Given the description of an element on the screen output the (x, y) to click on. 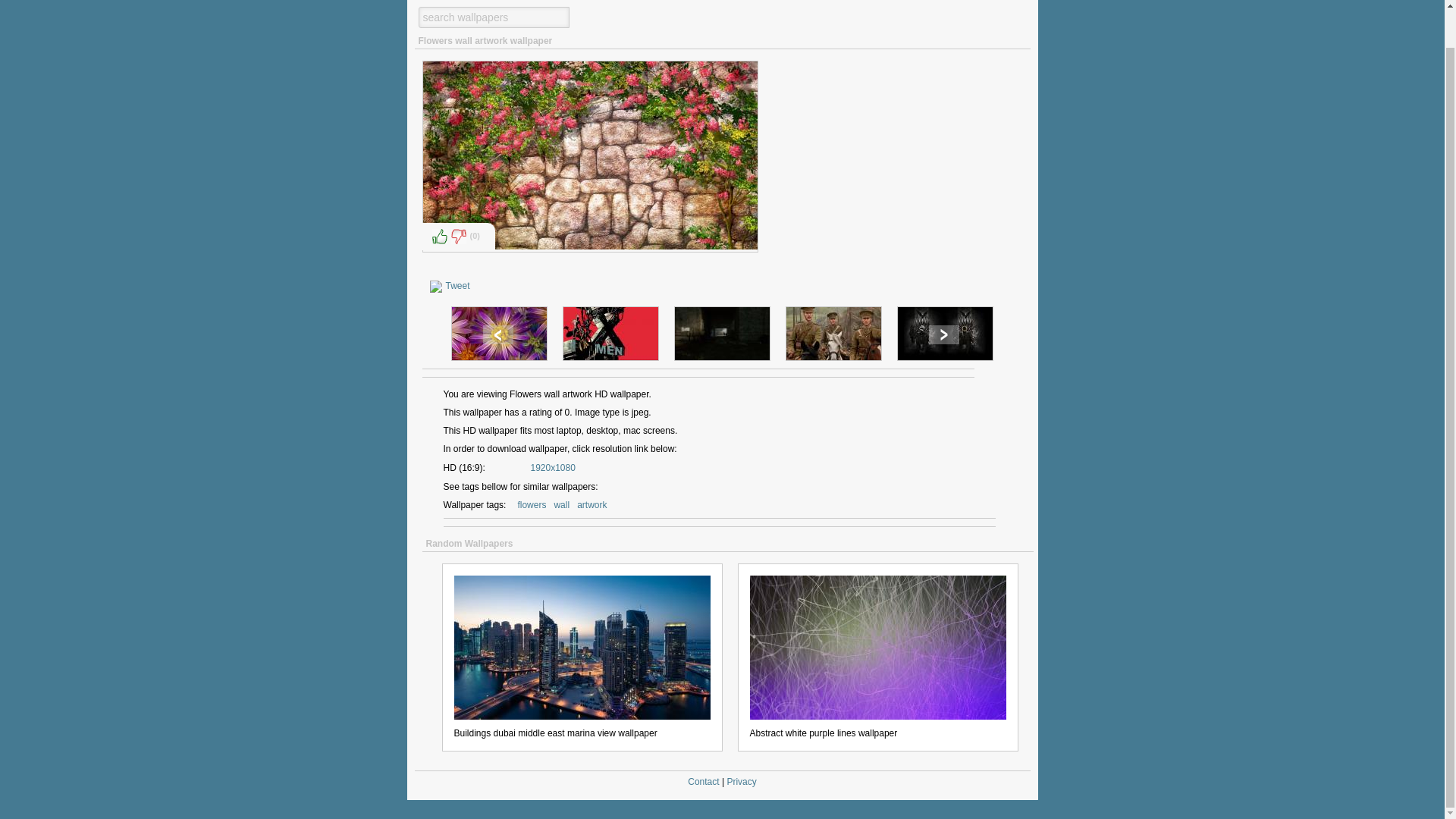
1920x1080 (553, 467)
wall wallpapers (561, 505)
artwork (591, 505)
Privacy (740, 781)
flowers (531, 505)
Abstract white purple lines wallpaper (876, 644)
Flowers wall artwork wallpaper HD 1920x1080 (553, 467)
wall (561, 505)
flowers wallpapers (531, 505)
Tweet (457, 285)
Flowers wall artwork wallpaper (590, 155)
Advertisement (892, 166)
artwork wallpapers (591, 505)
search wallpapers (494, 16)
search wallpapers (494, 16)
